Given the description of an element on the screen output the (x, y) to click on. 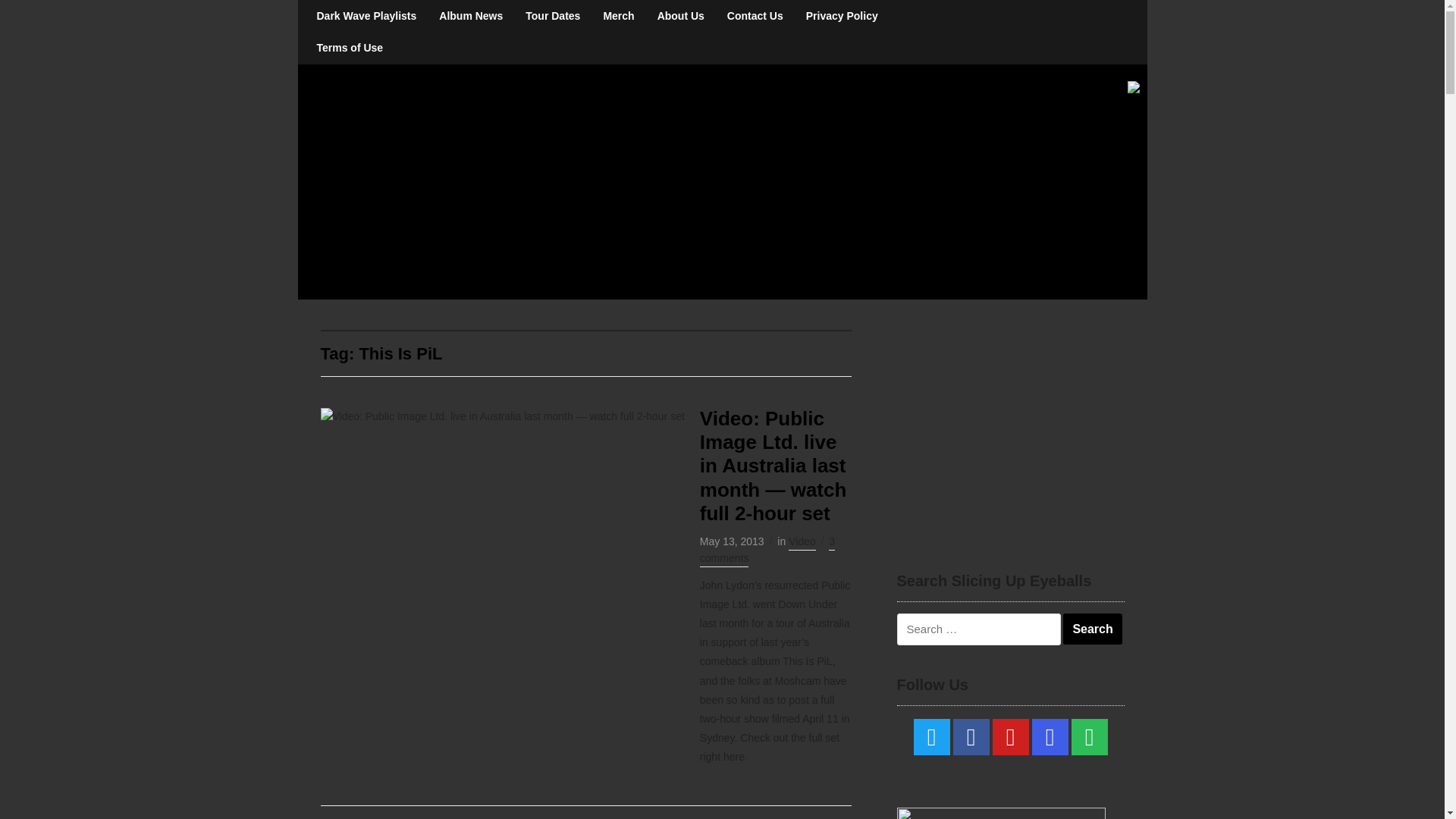
Contact Us (755, 15)
Album News (470, 15)
3 comments (767, 551)
Privacy Policy (841, 15)
Search (1091, 629)
About Us (681, 15)
Merch (618, 15)
Search (1091, 629)
Dark Wave Playlists (366, 15)
Video (802, 542)
Terms of Use (349, 47)
Tour Dates (552, 15)
'80s College Rock, Alternative Music, Indie (559, 180)
